Given the description of an element on the screen output the (x, y) to click on. 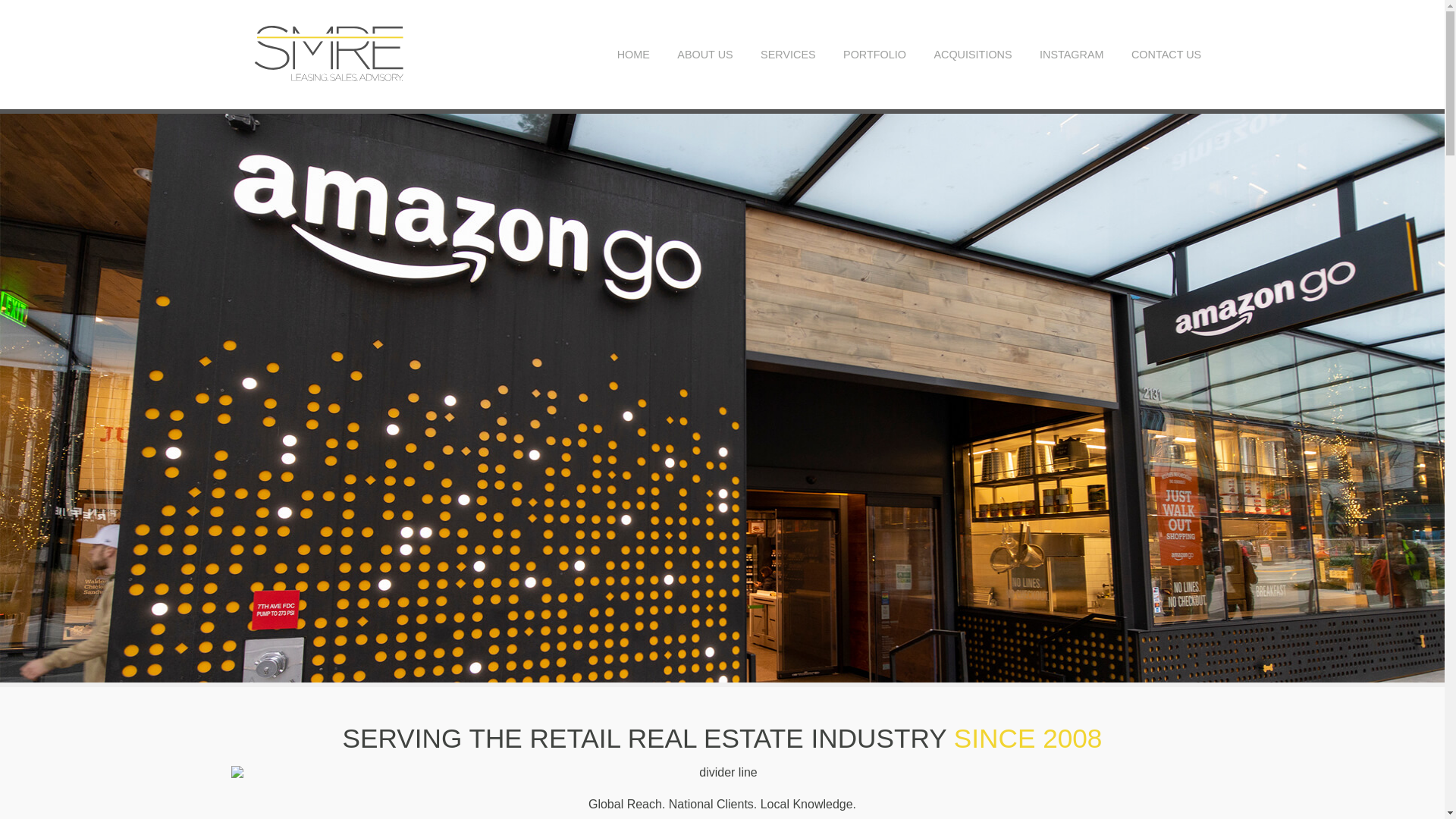
PORTFOLIO (874, 53)
